Given the description of an element on the screen output the (x, y) to click on. 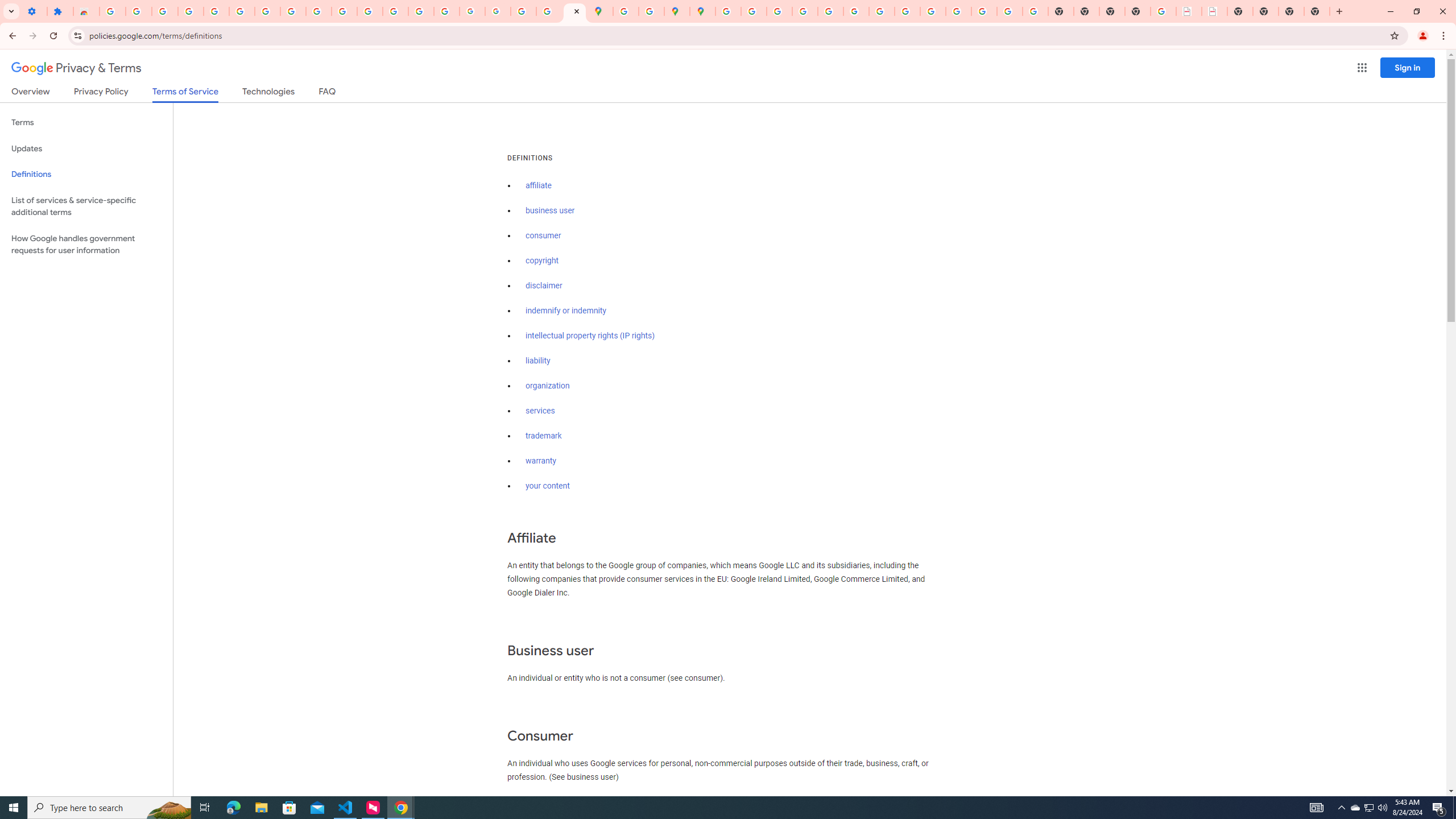
Terms (86, 122)
Learn how to find your photos - Google Photos Help (190, 11)
Extensions (60, 11)
Updates (86, 148)
warranty (540, 461)
intellectual property rights (IP rights) (590, 335)
How Google handles government requests for user information (86, 244)
affiliate (538, 185)
